Given the description of an element on the screen output the (x, y) to click on. 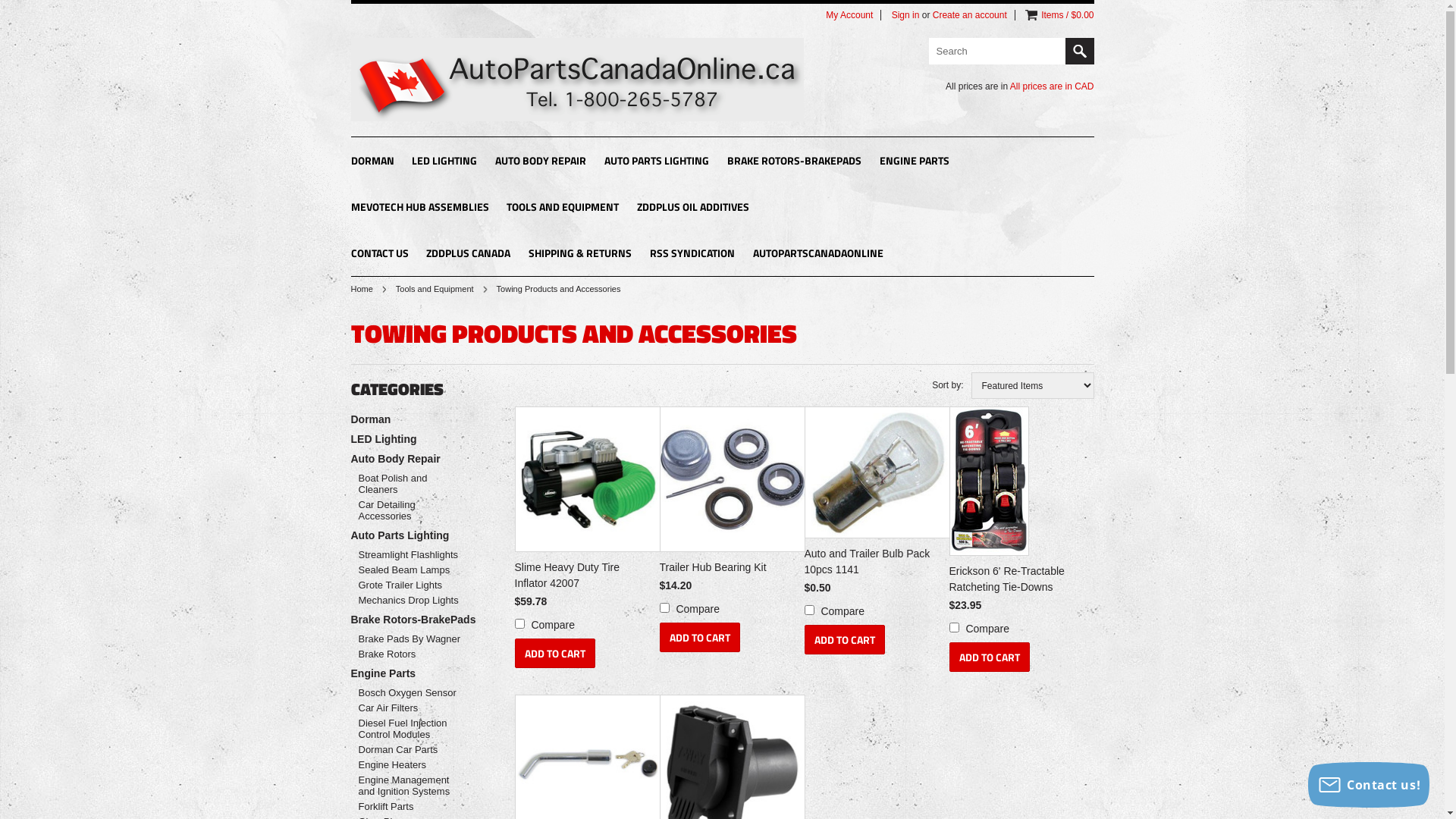
Streamlight Flashlights Element type: text (410, 554)
Sealed Beam Lamps Element type: text (410, 569)
Create an account Element type: text (969, 14)
Engine Parts Element type: text (416, 673)
Dorman Car Parts Element type: text (410, 749)
SHIPPING & RETURNS Element type: text (579, 253)
Car Air Filters Element type: text (410, 707)
ADD TO CART Element type: text (989, 656)
Boat Polish and Cleaners Element type: text (410, 483)
138 Element type: text (808, 610)
AUTO PARTS LIGHTING Element type: text (656, 161)
Erickson 6' Re-Tractable Ratcheting Tie-Downs Element type: text (1018, 581)
My Account Element type: text (848, 14)
ENGINE PARTS Element type: text (914, 161)
Auto Body Repair Element type: text (416, 458)
AUTOPARTSCANADAONLINE Element type: text (818, 253)
Search Element type: hover (1078, 50)
DORMAN Element type: text (371, 161)
ADD TO CART Element type: text (554, 653)
Slime Heavy Duty Tire Inflator 42007 Element type: text (583, 577)
Car Detailing Accessories Element type: text (410, 509)
Sign in Element type: text (905, 14)
Grote Trailer Lights Element type: text (410, 584)
Tools and Equipment Element type: text (441, 288)
ADD TO CART Element type: text (843, 639)
Bosch Oxygen Sensor Element type: text (410, 692)
ZDDPLUS OIL ADDITIVES Element type: text (693, 207)
Items / $0.00 Element type: text (1067, 14)
400 Element type: text (519, 623)
ZDDPLUS CANADA Element type: text (468, 253)
Brake Rotors Element type: text (410, 653)
Dorman Element type: text (416, 419)
Engine Heaters Element type: text (410, 764)
MEVOTECH HUB ASSEMBLIES Element type: text (419, 207)
Brake Rotors-BrakePads Element type: text (416, 619)
Brake Pads By Wagner Element type: text (410, 638)
Auto Parts Lighting Element type: text (416, 535)
Home Element type: text (367, 288)
ADD TO CART Element type: text (699, 637)
LED Lighting Element type: text (416, 439)
LED LIGHTING Element type: text (443, 161)
AUTO BODY REPAIR Element type: text (540, 161)
175 Element type: text (664, 607)
Diesel Fuel Injection Control Modules Element type: text (410, 728)
45 Element type: text (954, 627)
Trailer Hub Bearing Kit Element type: text (728, 569)
TOOLS AND EQUIPMENT Element type: text (562, 207)
BRAKE ROTORS-BRAKEPADS Element type: text (794, 161)
View Cart Element type: hover (1031, 14)
Auto and Trailer Bulb Pack 10pcs 1141 Element type: text (872, 563)
Contact us! Element type: text (1368, 784)
RSS SYNDICATION Element type: text (691, 253)
Forklift Parts Element type: text (410, 806)
CONTACT US Element type: text (378, 253)
All prices are in CAD Element type: text (1052, 86)
Mechanics Drop Lights Element type: text (410, 599)
Engine Management and Ignition Systems Element type: text (410, 785)
